Given the description of an element on the screen output the (x, y) to click on. 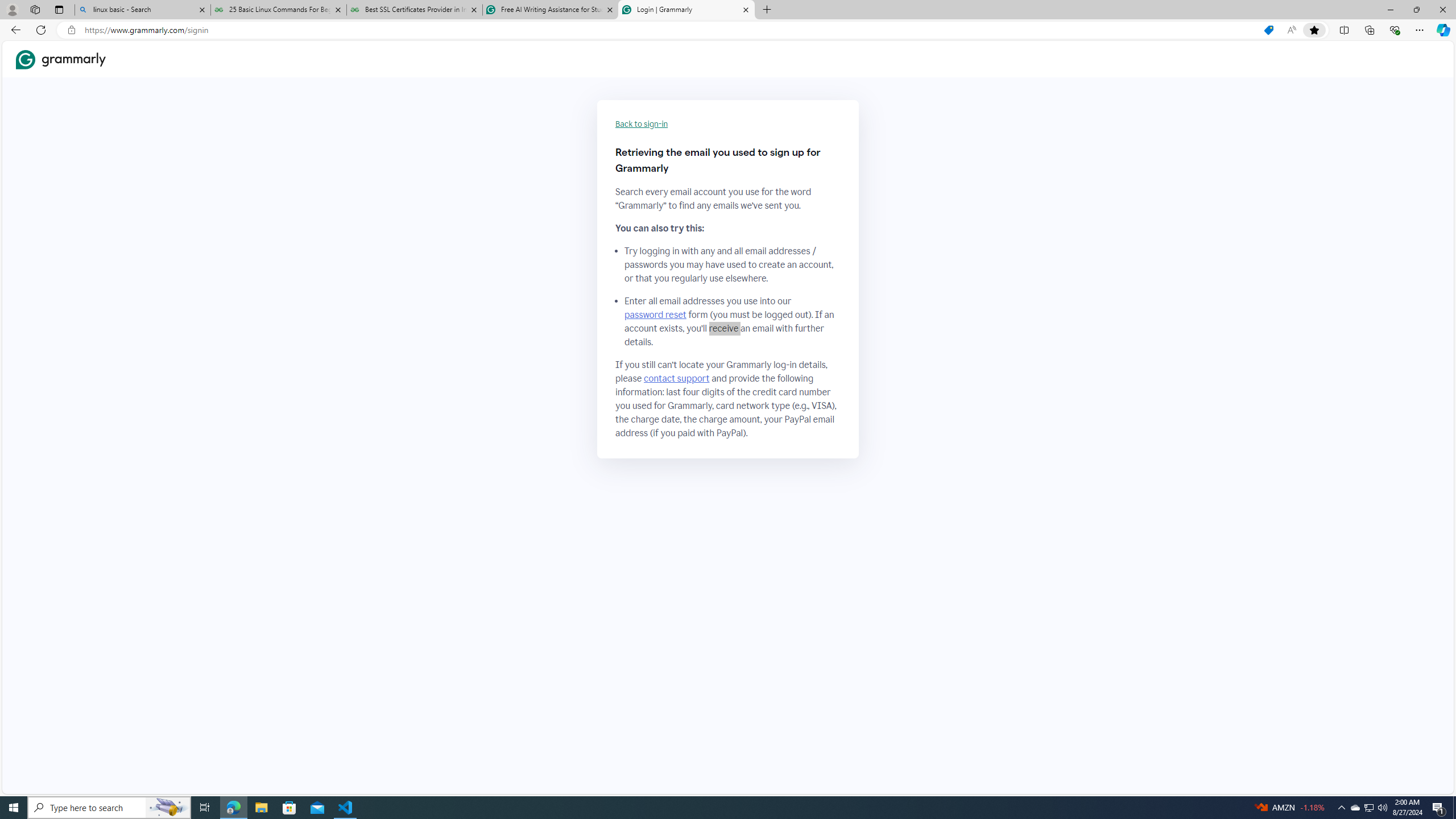
Back to sign-in (641, 124)
contact support (676, 378)
